Given the description of an element on the screen output the (x, y) to click on. 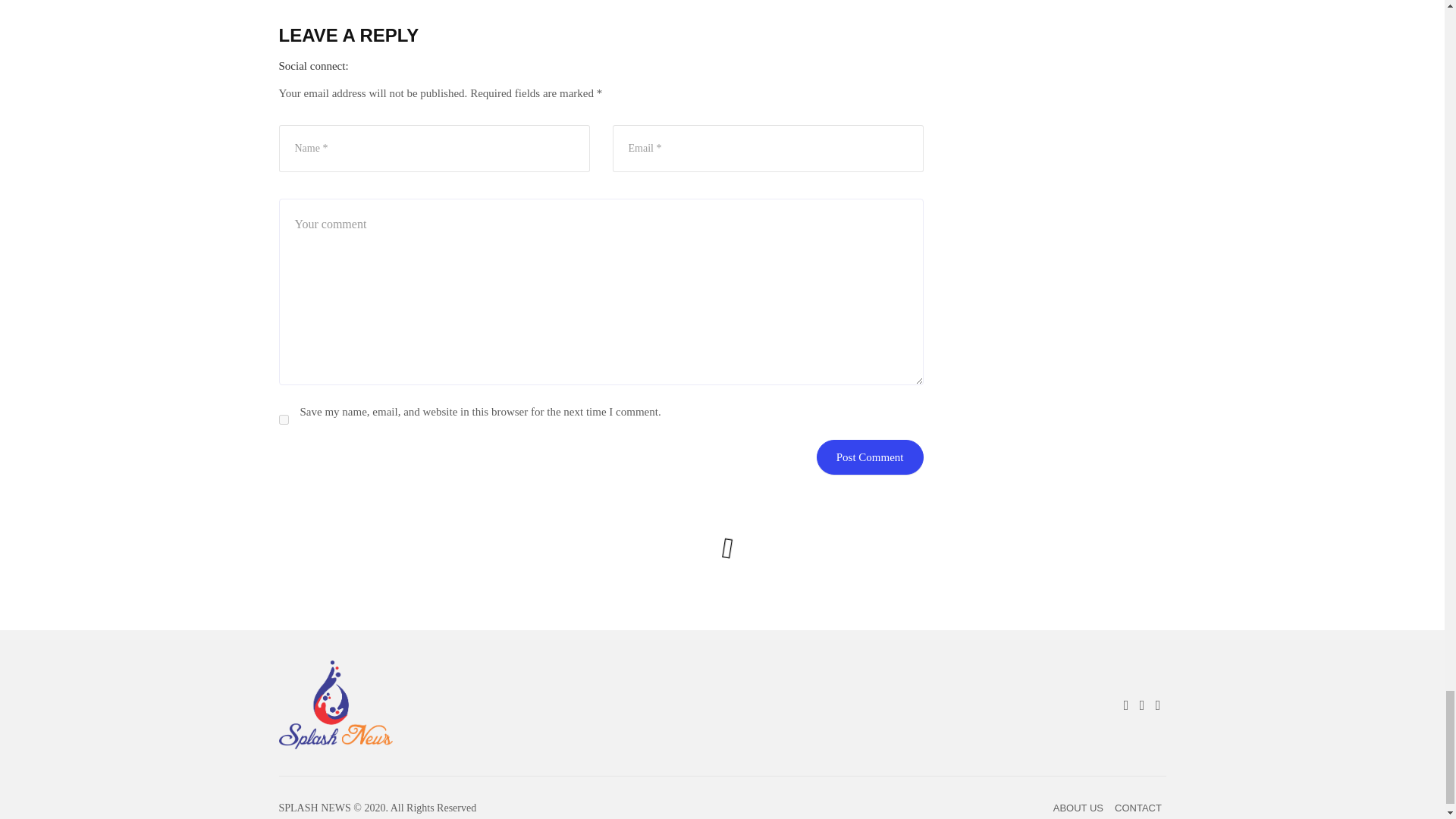
Post Comment (869, 457)
